Given the description of an element on the screen output the (x, y) to click on. 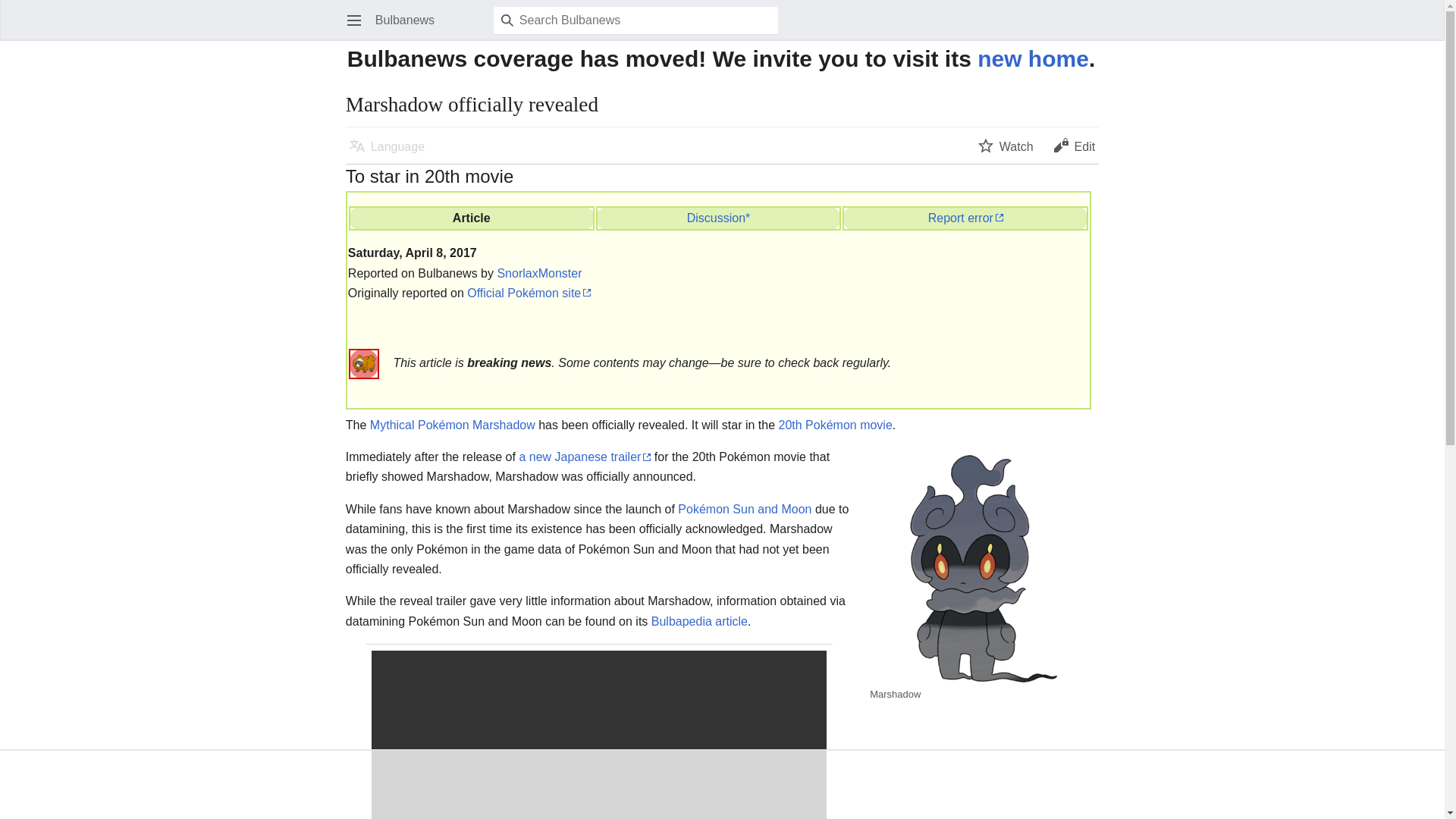
Language (386, 144)
Marshadow (503, 424)
Bulbapedia article (699, 621)
Watch (1005, 144)
Language (386, 144)
a new Japanese trailer (584, 456)
Article (471, 217)
Edit (1074, 144)
SnorlaxMonster (538, 273)
User:SnorlaxMonster (538, 273)
Open main menu (353, 20)
Report error (965, 217)
new home (1032, 58)
Watch (1005, 144)
